Given the description of an element on the screen output the (x, y) to click on. 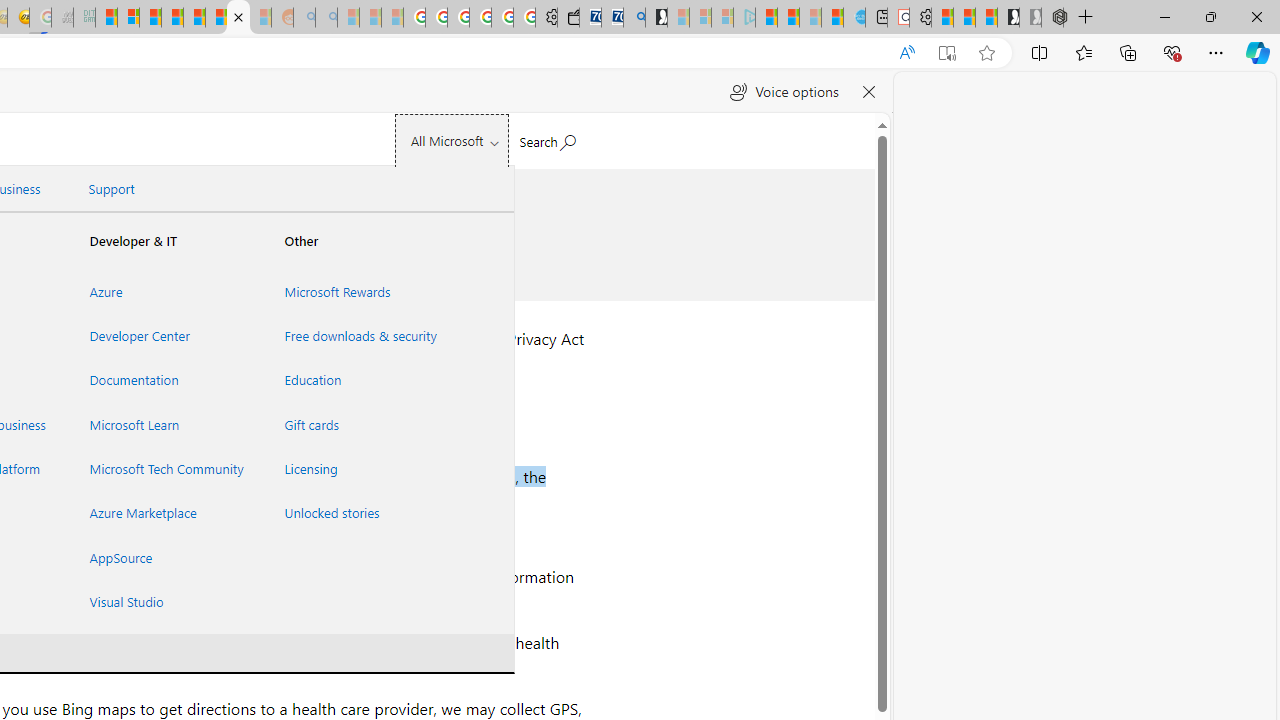
Microsoft Tech Community (163, 468)
Documentation (163, 380)
Licensing (357, 468)
Developer Center (163, 336)
Play Free Online Games | Games from Microsoft Start (1008, 17)
Education (357, 380)
DITOGAMES AG Imprint - Sleeping (84, 17)
